Given the description of an element on the screen output the (x, y) to click on. 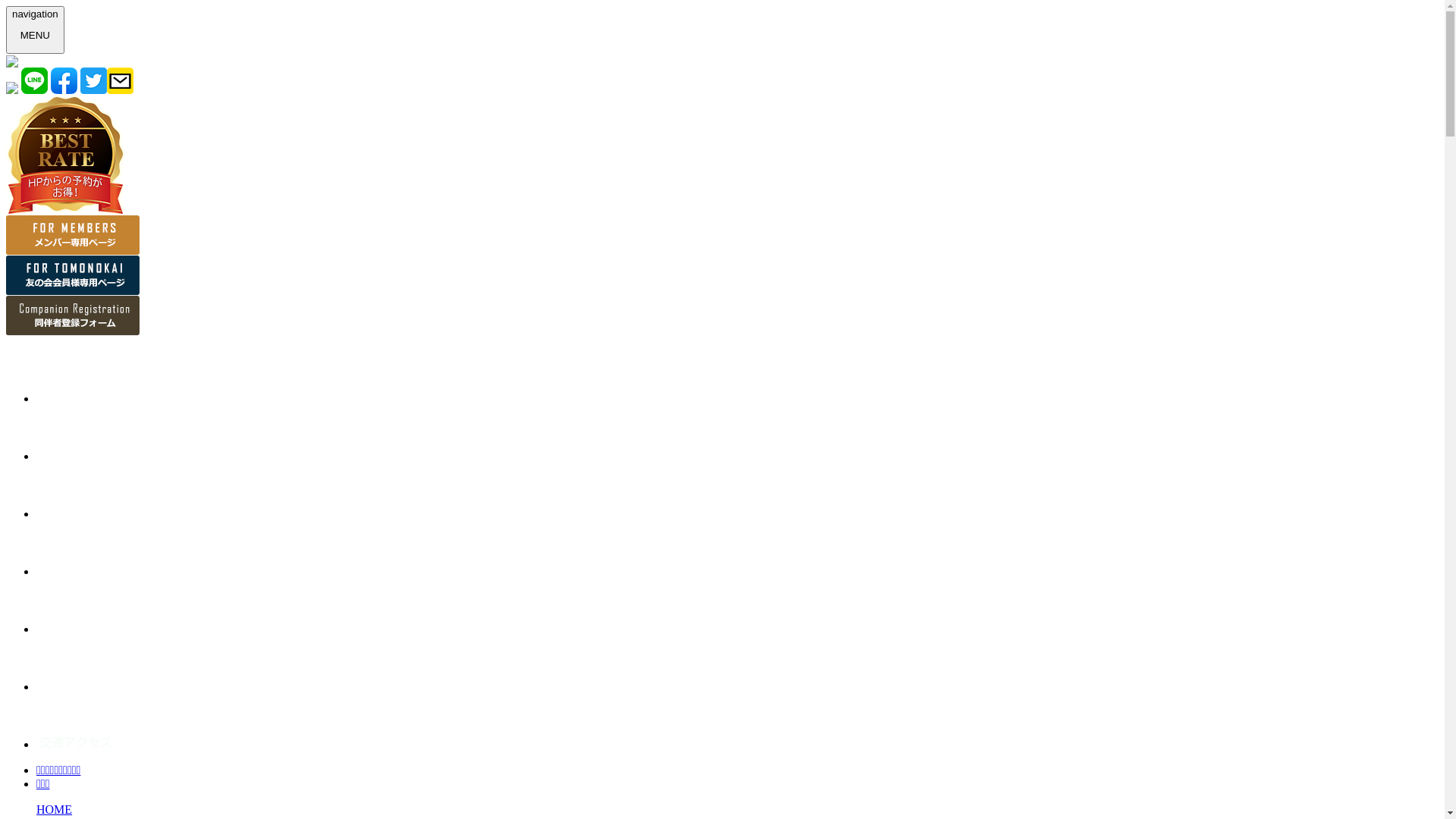
navigation
MENU Element type: text (35, 29)
